Given the description of an element on the screen output the (x, y) to click on. 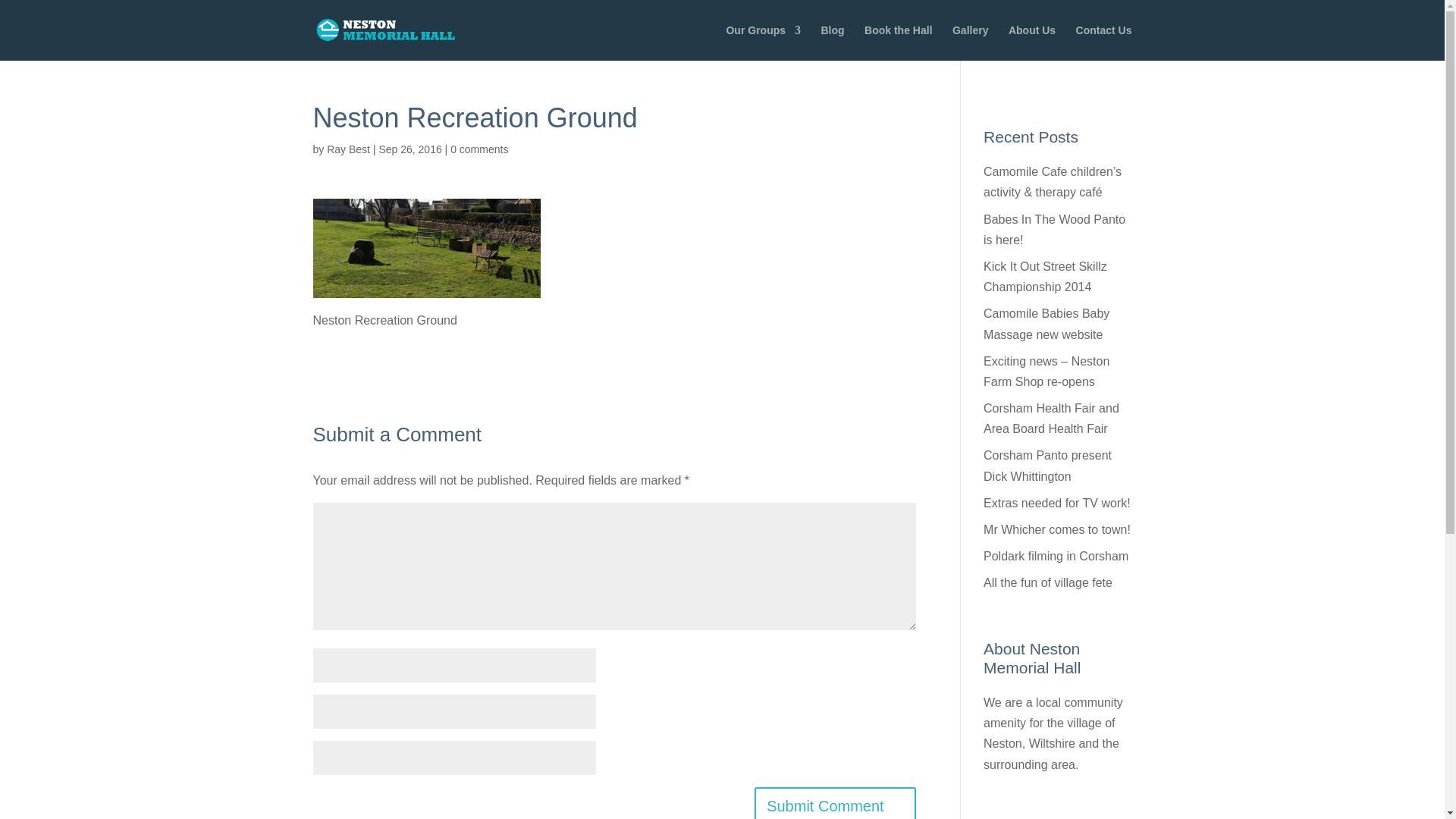
Submit Comment (834, 803)
Gallery (970, 42)
Submit Comment (834, 803)
About Us (1032, 42)
Kick It Out Street Skillz Championship 2014 (1045, 276)
Babes In The Wood Panto is here! (1054, 229)
0 comments (478, 149)
Camomile Babies Baby Massage new website (1046, 323)
Book the Hall (897, 42)
Blog (832, 42)
Ray Best (347, 149)
Our Groups (762, 42)
Posts by Ray Best (347, 149)
Contact Us (1103, 42)
